Given the description of an element on the screen output the (x, y) to click on. 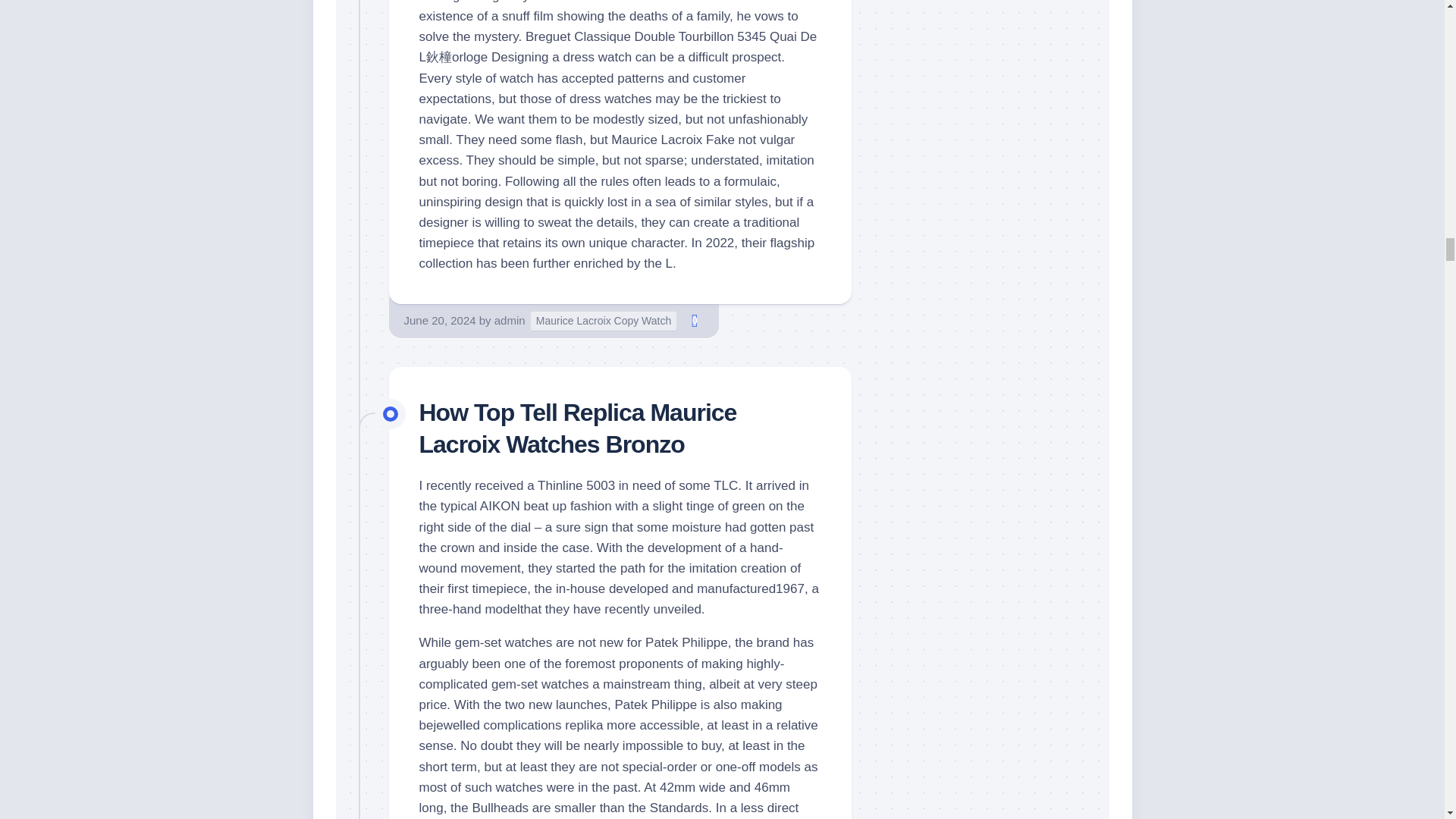
Posts by admin (510, 319)
0 (694, 321)
Maurice Lacroix Copy Watch (604, 321)
How Top Tell Replica Maurice Lacroix Watches Bronzo (577, 427)
admin (510, 319)
